Given the description of an element on the screen output the (x, y) to click on. 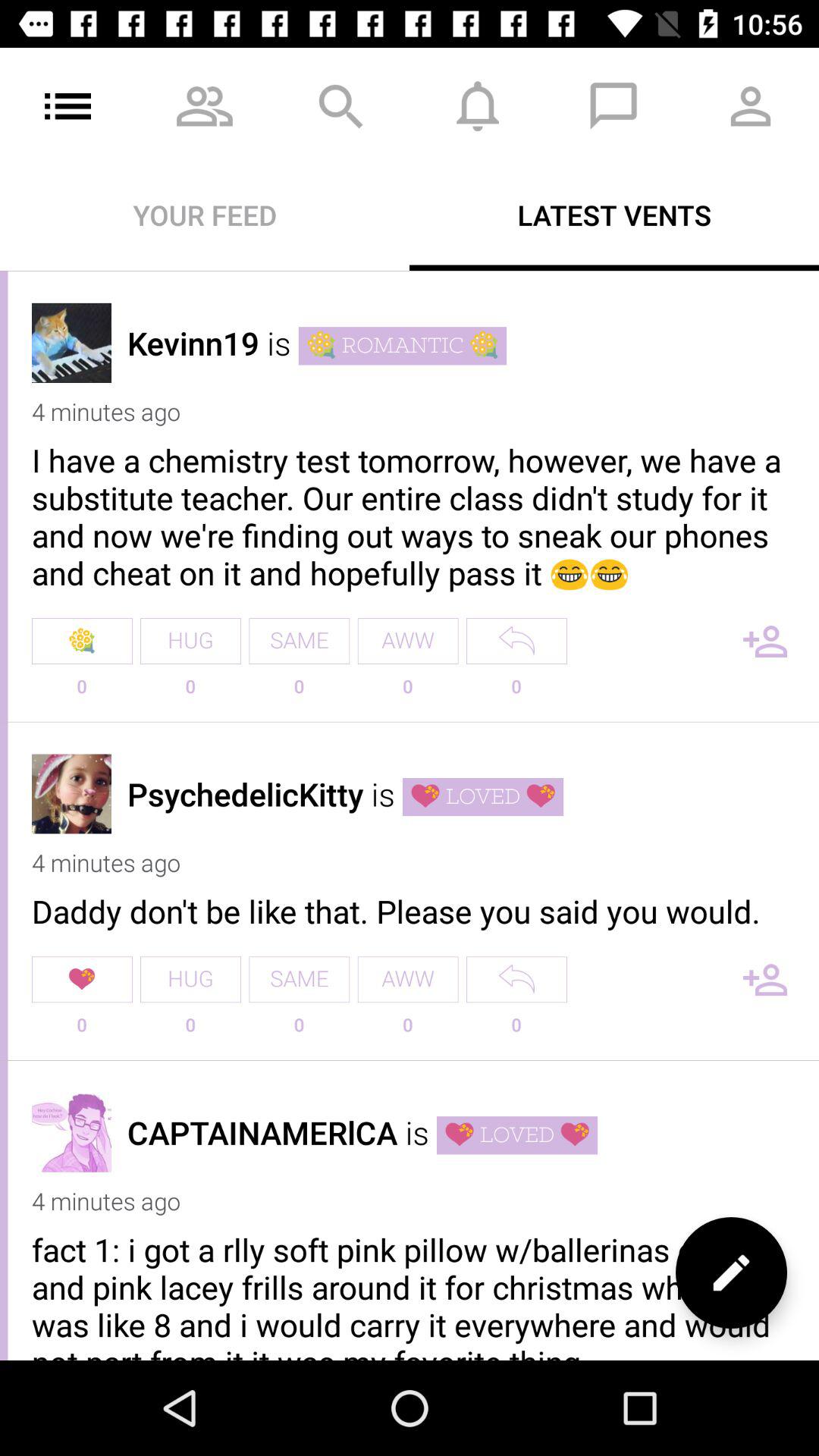
profile picture (71, 1132)
